Given the description of an element on the screen output the (x, y) to click on. 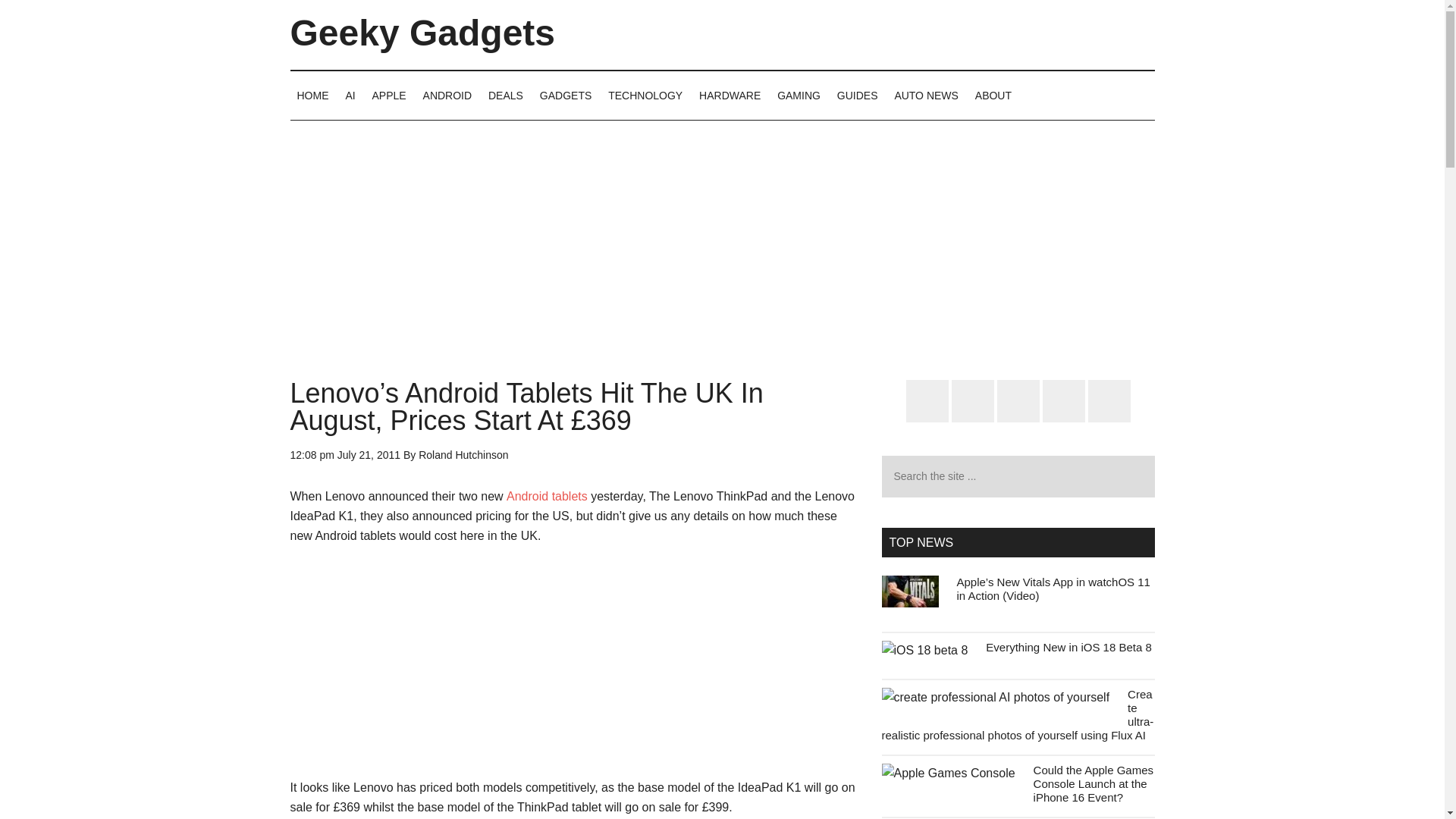
GAMING (798, 95)
GADGETS (565, 95)
GUIDES (857, 95)
Roland Hutchinson (463, 454)
ANDROID (447, 95)
Geeky Gadgets (421, 33)
Everything New in iOS 18 Beta 8 (1068, 646)
